Given the description of an element on the screen output the (x, y) to click on. 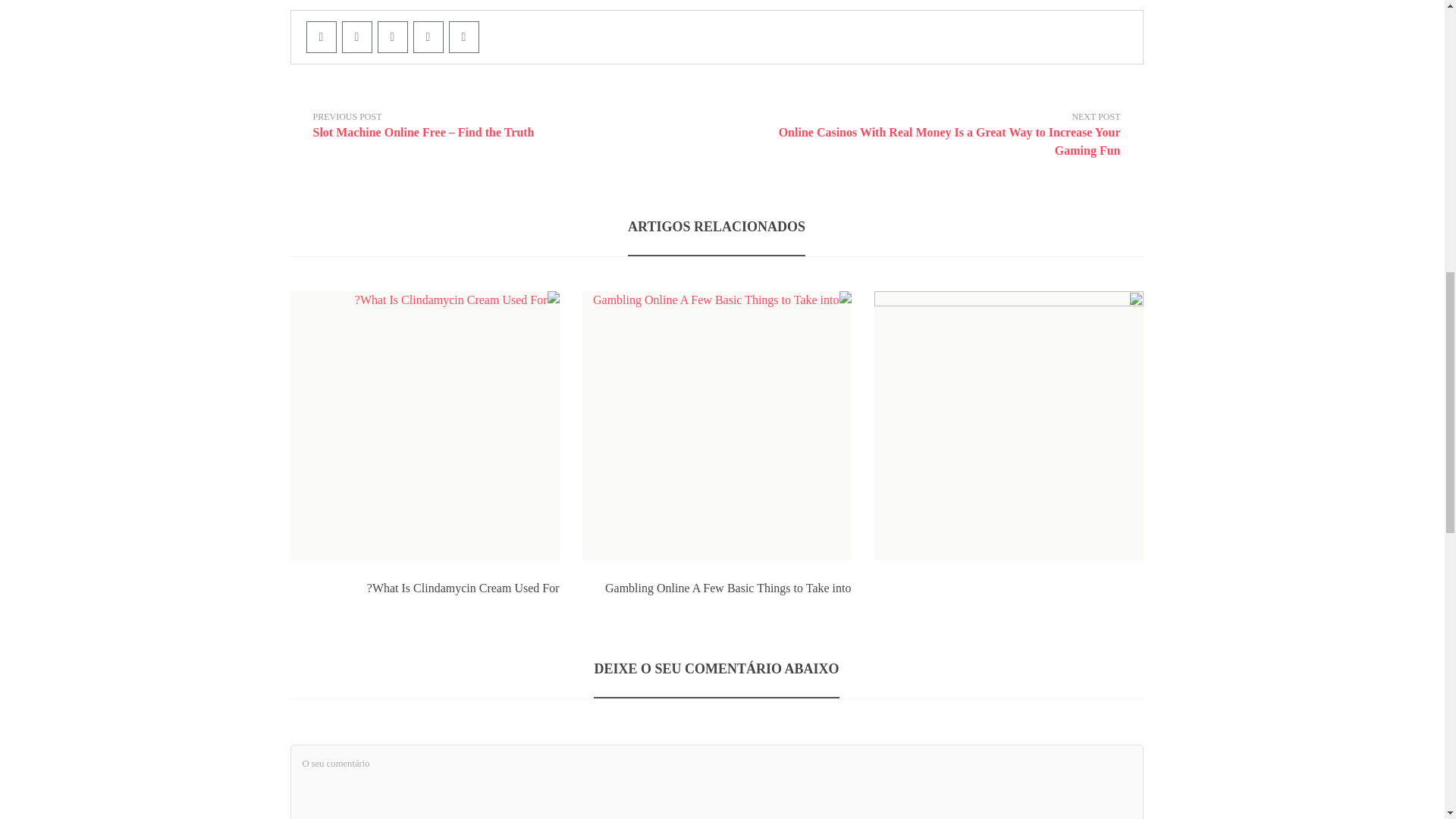
Compartilhar no Twitter (355, 37)
Partilhar no Facebook (320, 37)
Pin no Pinterest (392, 37)
Compartilhar no LinkedIn (463, 37)
